Given the description of an element on the screen output the (x, y) to click on. 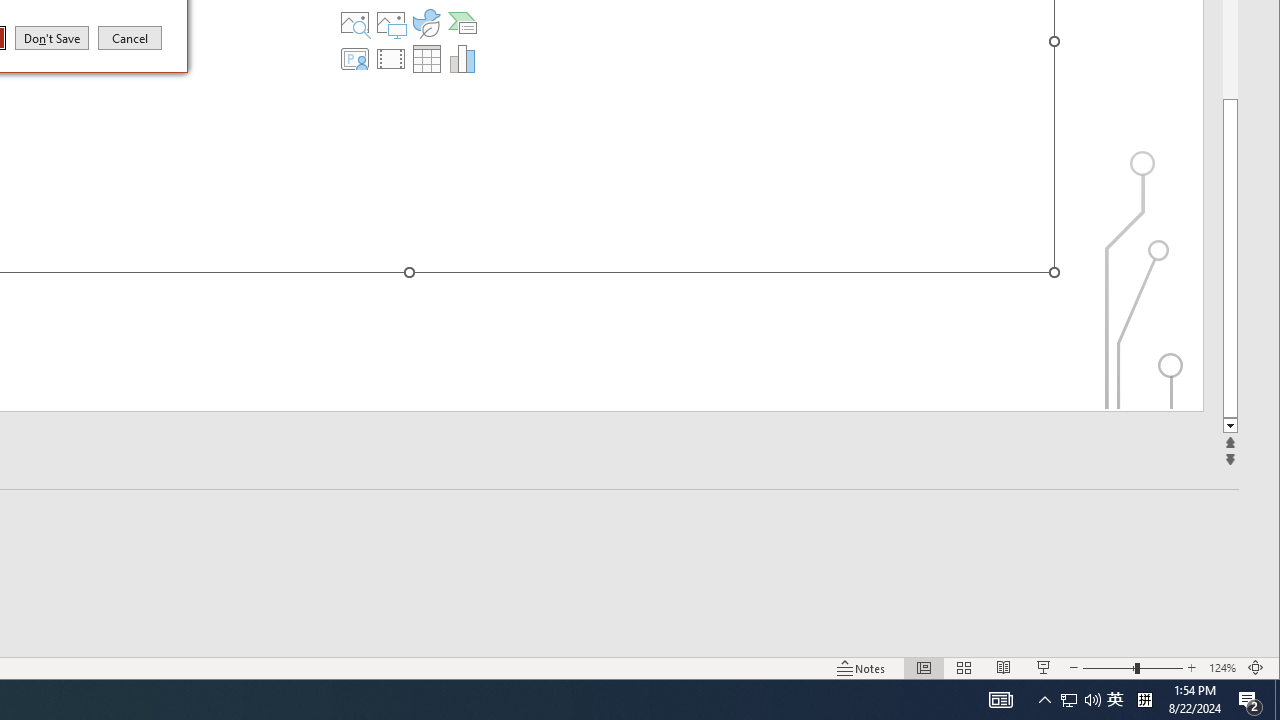
Stock Images (1069, 699)
Tray Input Indicator - Chinese (Simplified, China) (355, 22)
Insert Table (1144, 699)
User Promoted Notification Area (426, 58)
Show desktop (1080, 699)
Zoom 124% (1277, 699)
